Given the description of an element on the screen output the (x, y) to click on. 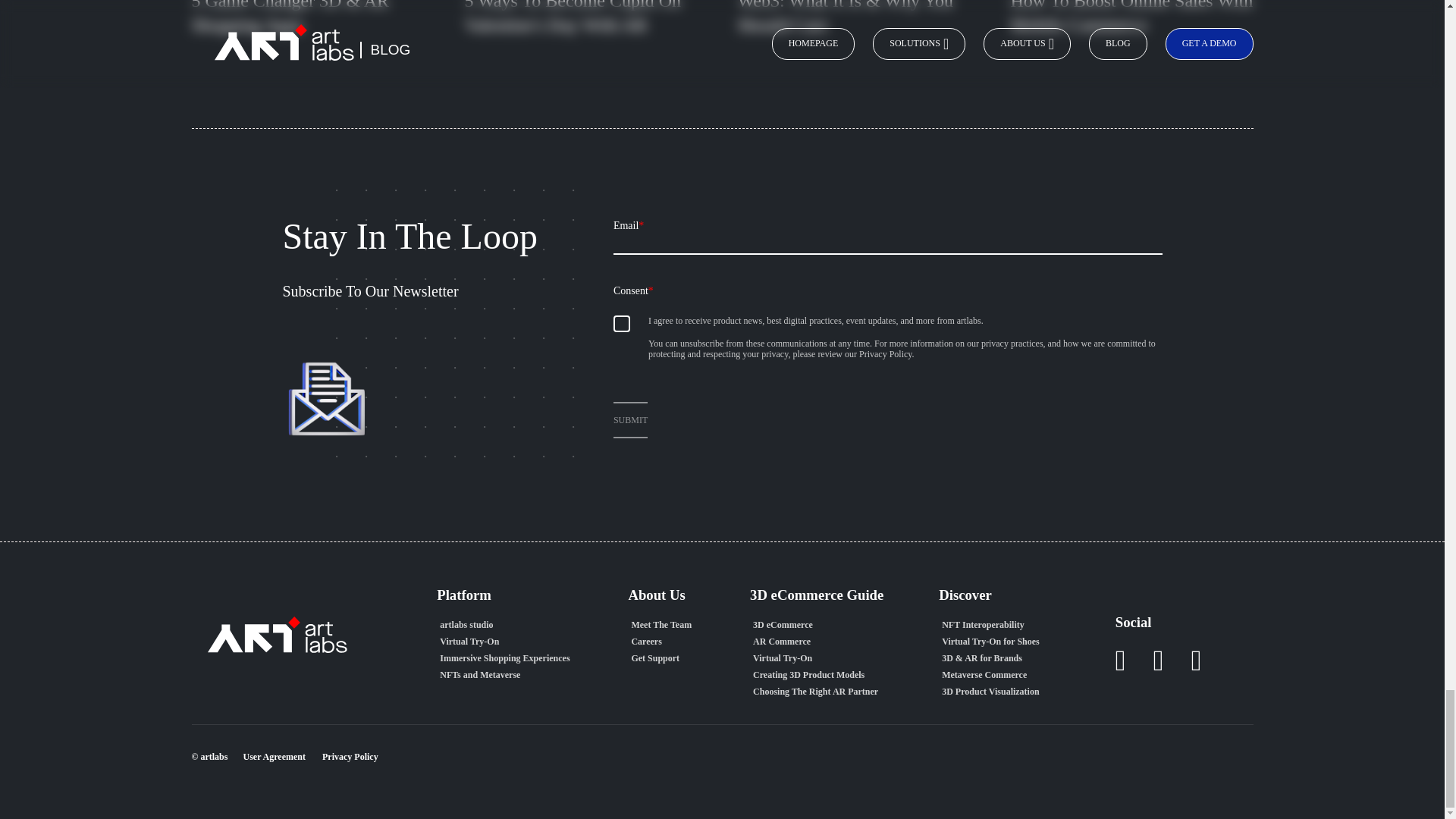
How To Boost Online Sales With Mobile Commerce (1131, 33)
Careers (660, 641)
SUBMIT (629, 420)
Meet The Team (660, 625)
5 Ways To Become Cupid On Valentine's Day With AR (585, 33)
Immersive Shopping Experiences (504, 658)
NFTs and Metaverse (504, 675)
Virtual Try-On (504, 641)
artlabs studio (504, 625)
